Given the description of an element on the screen output the (x, y) to click on. 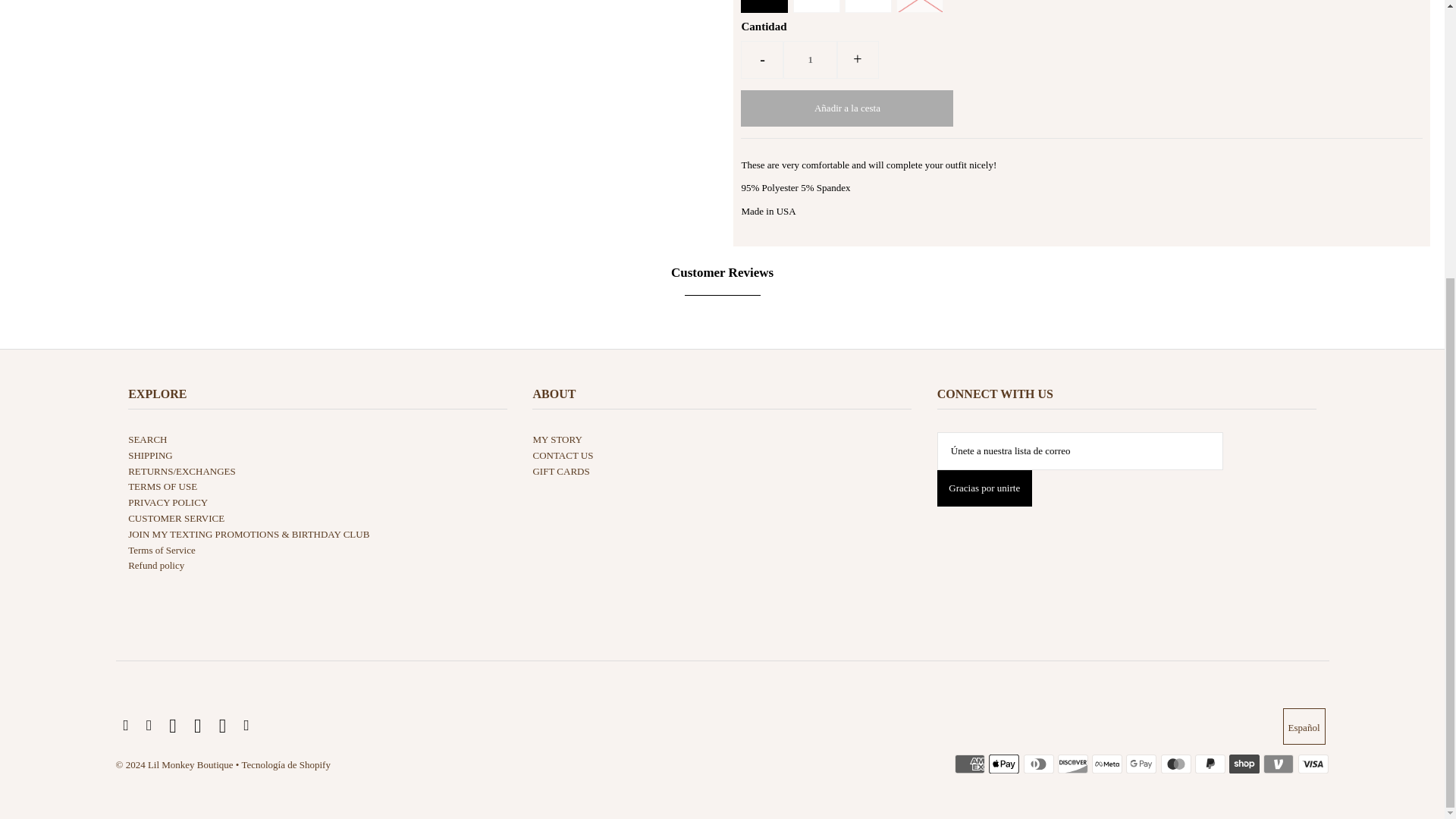
American Express (970, 763)
Apple Pay (1003, 763)
Shop Pay (1243, 763)
Diners Club (1038, 763)
Venmo (1278, 763)
1 (810, 59)
Discover (1072, 763)
Gracias por unirte (984, 488)
Visa (1312, 763)
Google Pay (1140, 763)
